Given the description of an element on the screen output the (x, y) to click on. 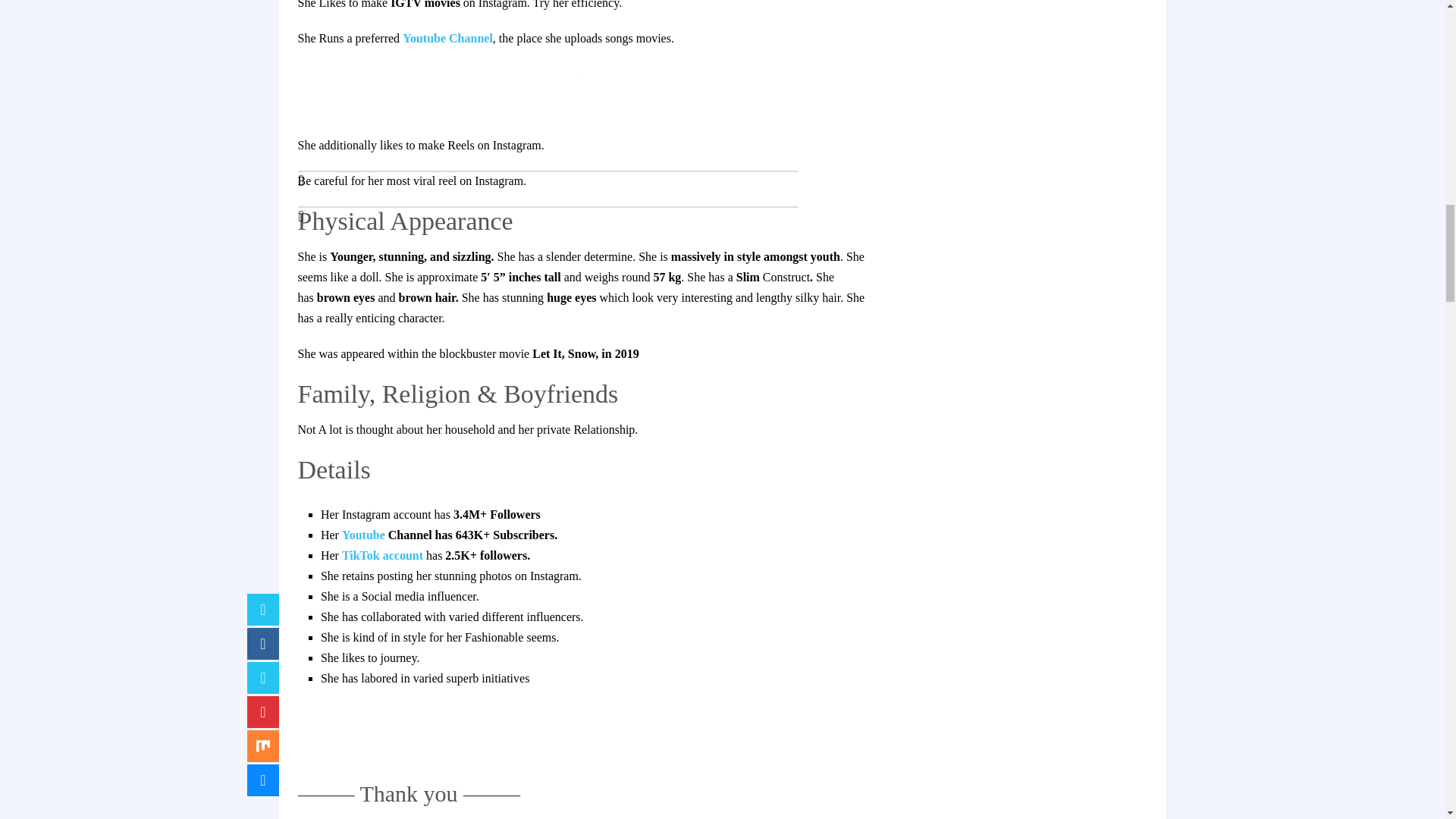
Youtube Channel (448, 38)
Youtube (365, 534)
TikTok account (384, 554)
